Given the description of an element on the screen output the (x, y) to click on. 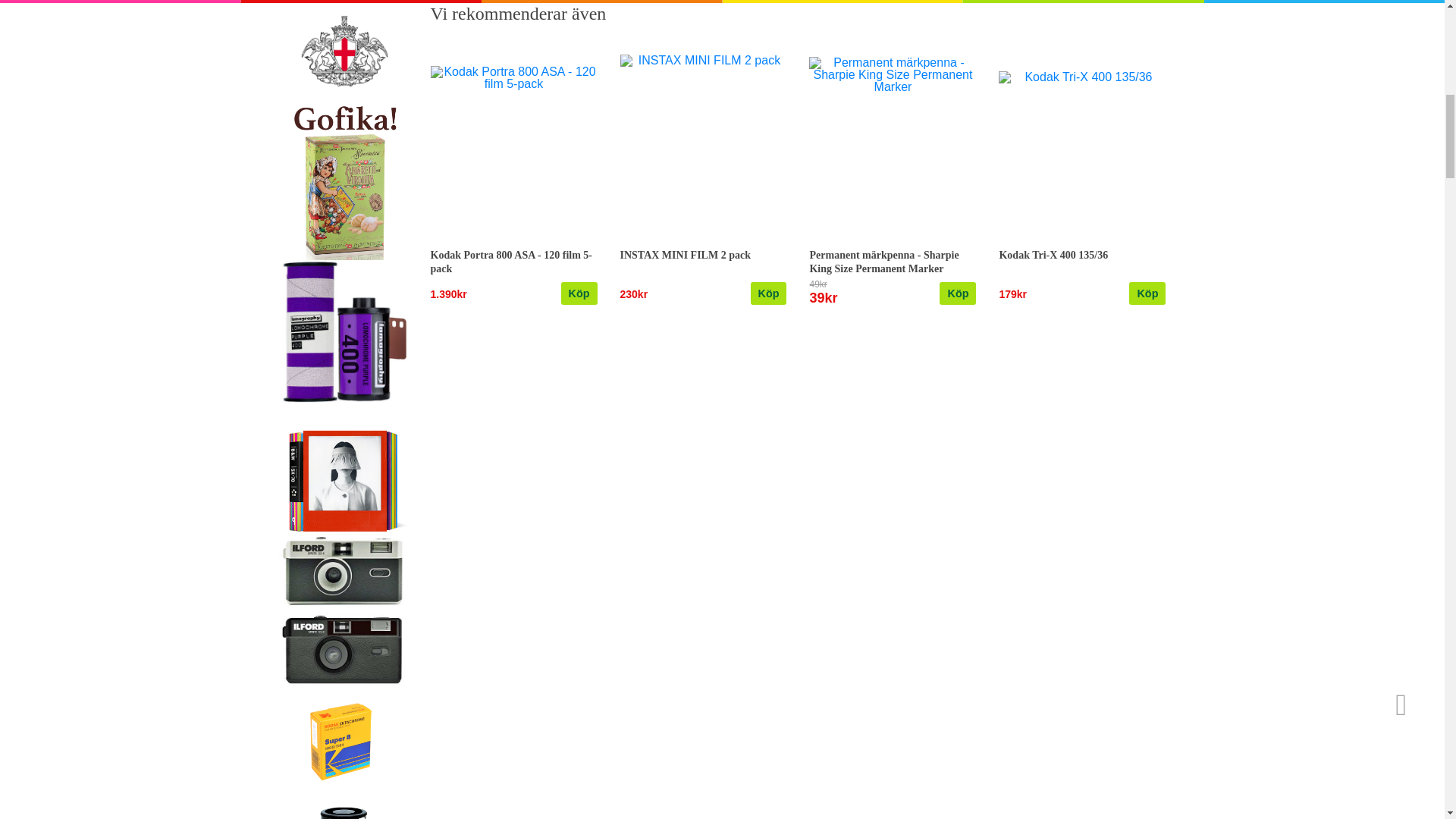
LomoChrome (343, 331)
Amaretti  Mandelkakor  (343, 179)
Polaroidfilm  (343, 467)
Polaroidfilm  (343, 466)
ILFORD Sprite 35-II (343, 609)
LomoChrome (343, 330)
